Given the description of an element on the screen output the (x, y) to click on. 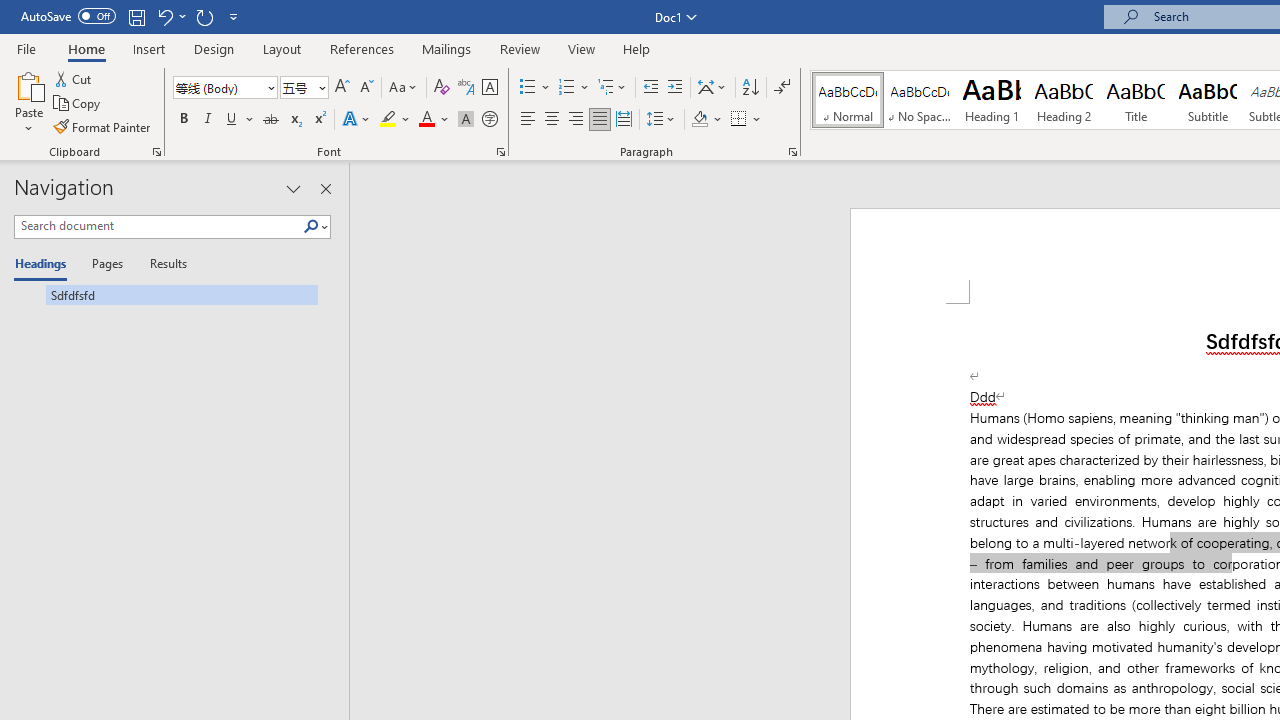
Open (320, 87)
Results (161, 264)
Phonetic Guide... (465, 87)
Search (311, 227)
Shrink Font (365, 87)
Office Clipboard... (156, 151)
Repeat Insert Shape (204, 15)
Sort... (750, 87)
Subtitle (1208, 100)
Decrease Indent (650, 87)
Font Size (297, 87)
Design (214, 48)
Center (552, 119)
